Given the description of an element on the screen output the (x, y) to click on. 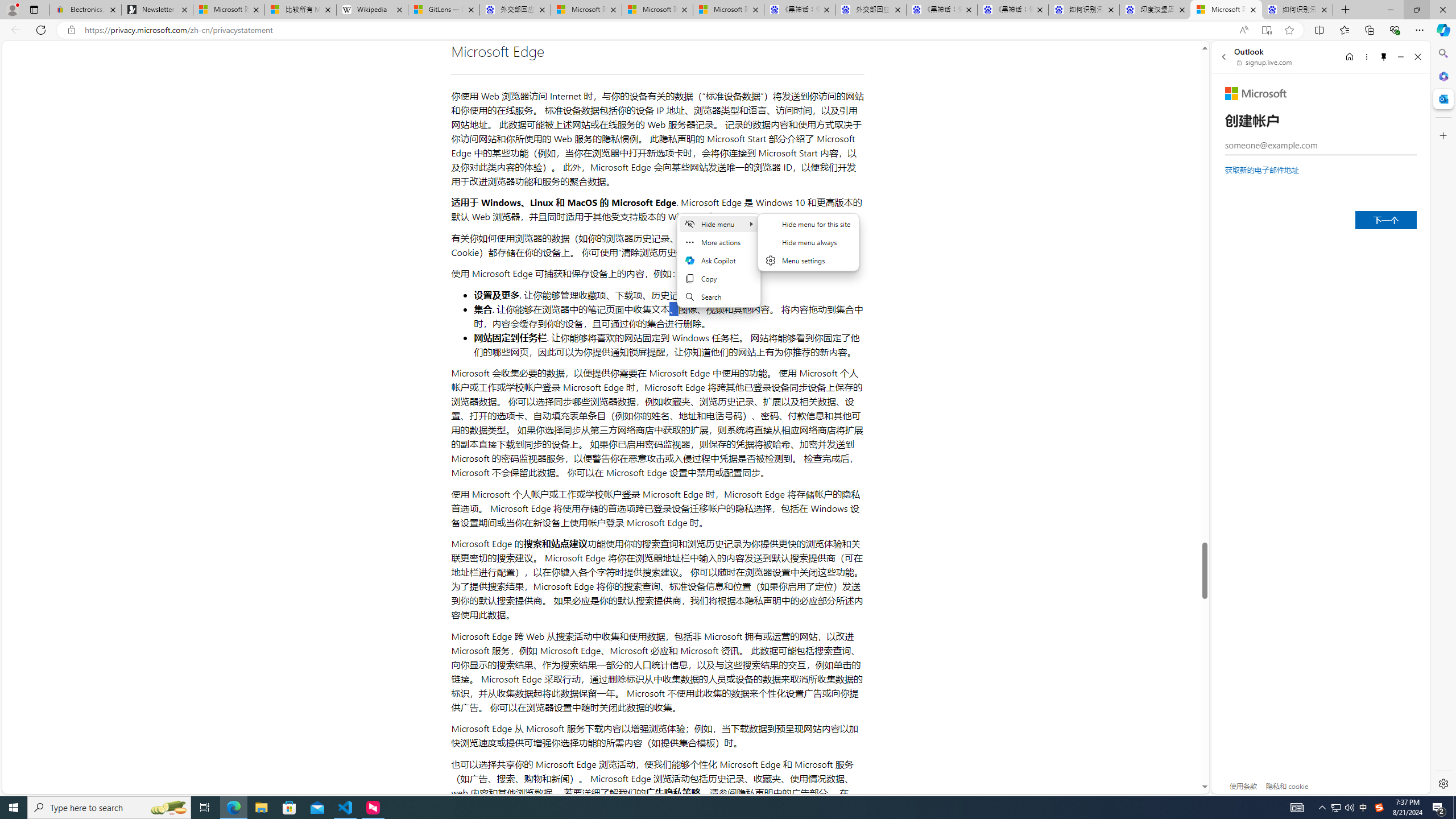
Menu settings (808, 260)
Hide menu (808, 242)
Hide menu always (808, 242)
Hide menu (808, 248)
